Given the description of an element on the screen output the (x, y) to click on. 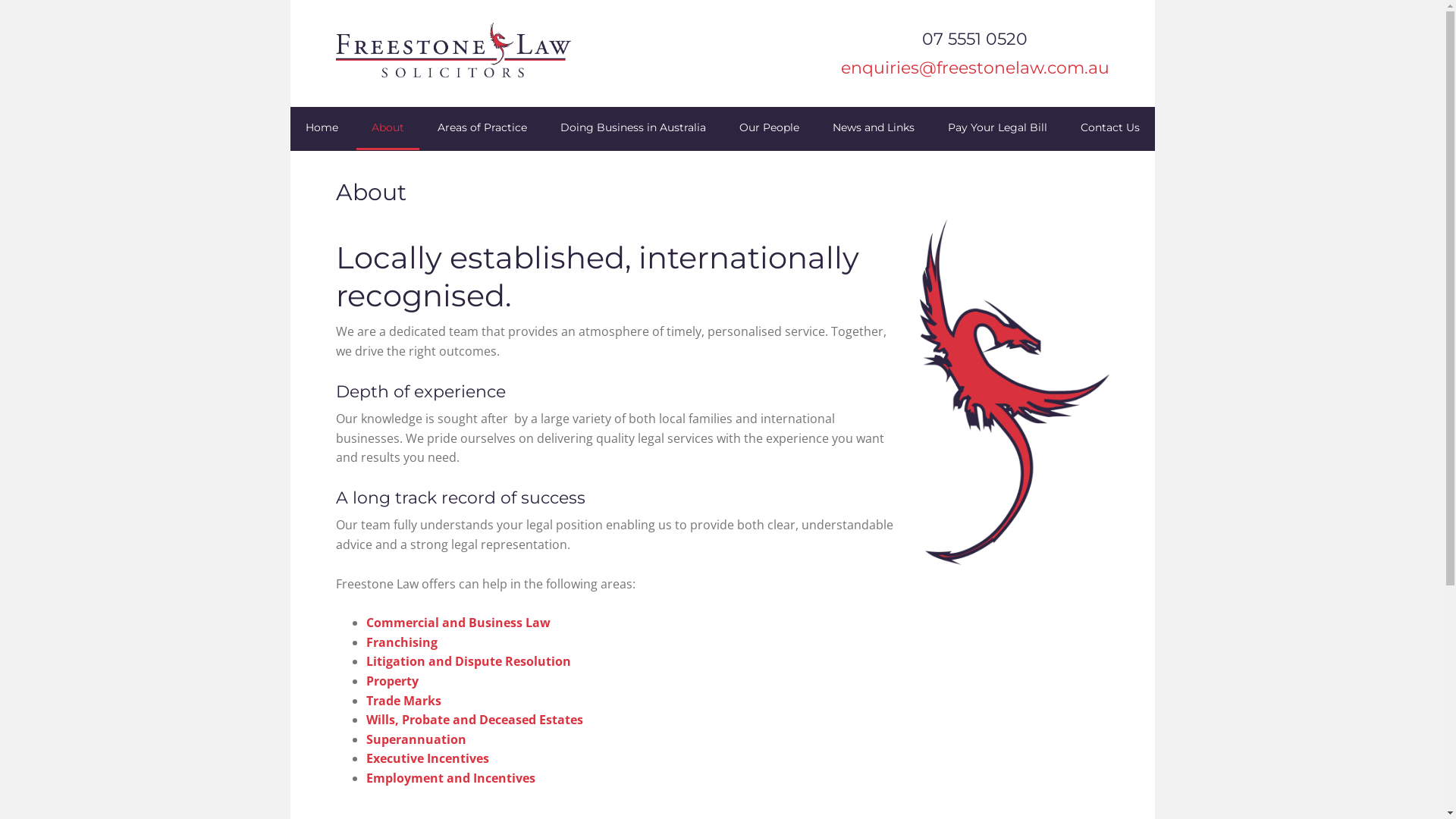
Skip to primary navigation Element type: text (289, 0)
News and Links Element type: text (873, 128)
Franchising Element type: text (400, 641)
Wills, Probate and Deceased Estates Element type: text (473, 719)
Property Element type: text (391, 680)
Commercial and Business Law Element type: text (457, 622)
Contact Us Element type: text (1109, 128)
Freestone Law Element type: hover (464, 52)
Superannuation Element type: text (415, 739)
Home Element type: text (320, 128)
Trade Marks Element type: text (402, 700)
Areas of Practice Element type: text (481, 128)
Our People Element type: text (768, 128)
Pay Your Legal Bill Element type: text (997, 128)
About Element type: text (387, 128)
Employment and Incentives Element type: text (449, 777)
Litigation and Dispute Resolution Element type: text (467, 660)
Doing Business in Australia Element type: text (632, 128)
Executive Incentives Element type: text (426, 757)
enquiries@freestonelaw.com.au Element type: text (974, 67)
